Given the description of an element on the screen output the (x, y) to click on. 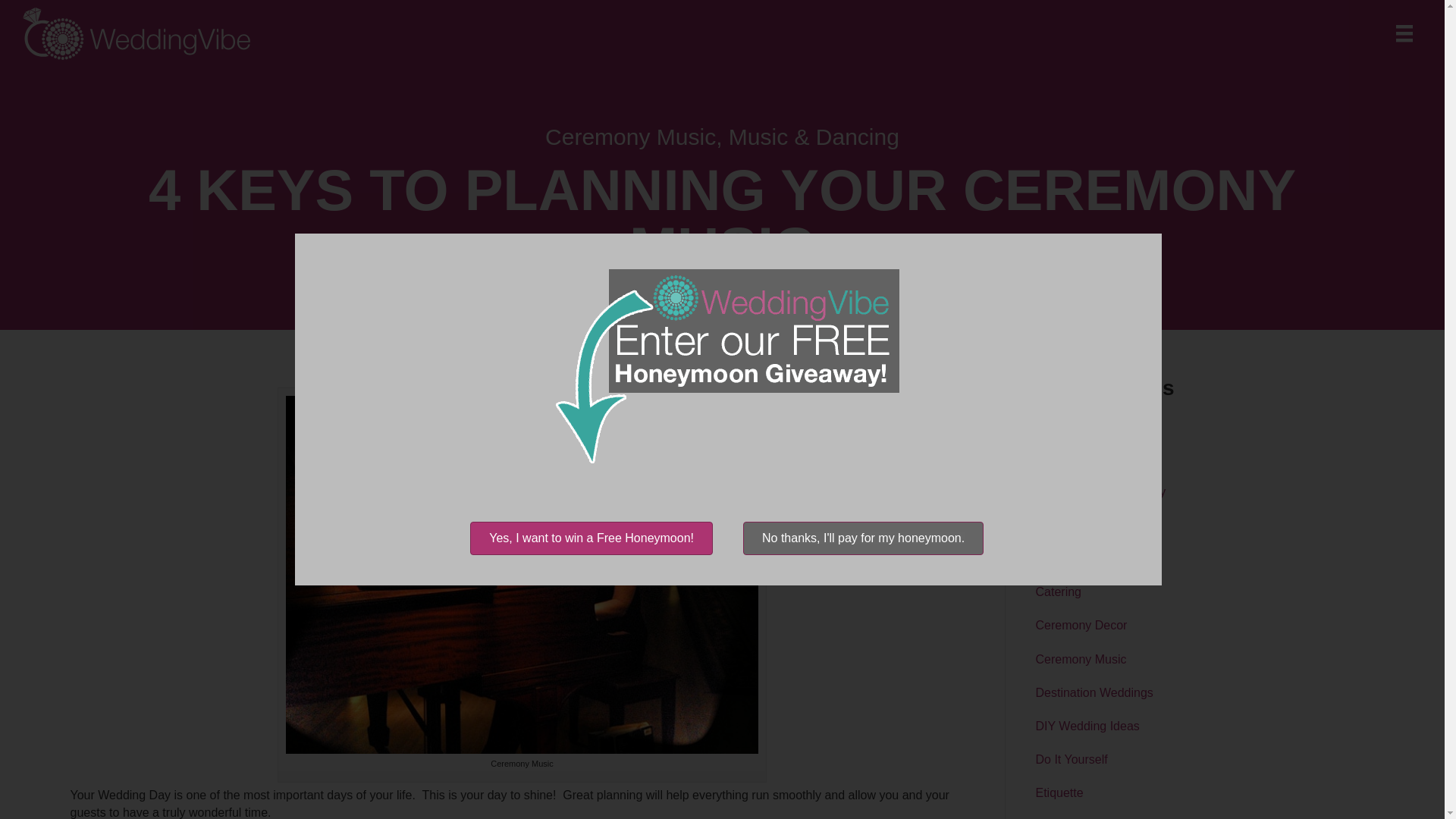
WeddingVibe-enter-free-honeymoon-giveaway-arrow (727, 365)
WeddingVibe-logo-magenta (136, 33)
